Given the description of an element on the screen output the (x, y) to click on. 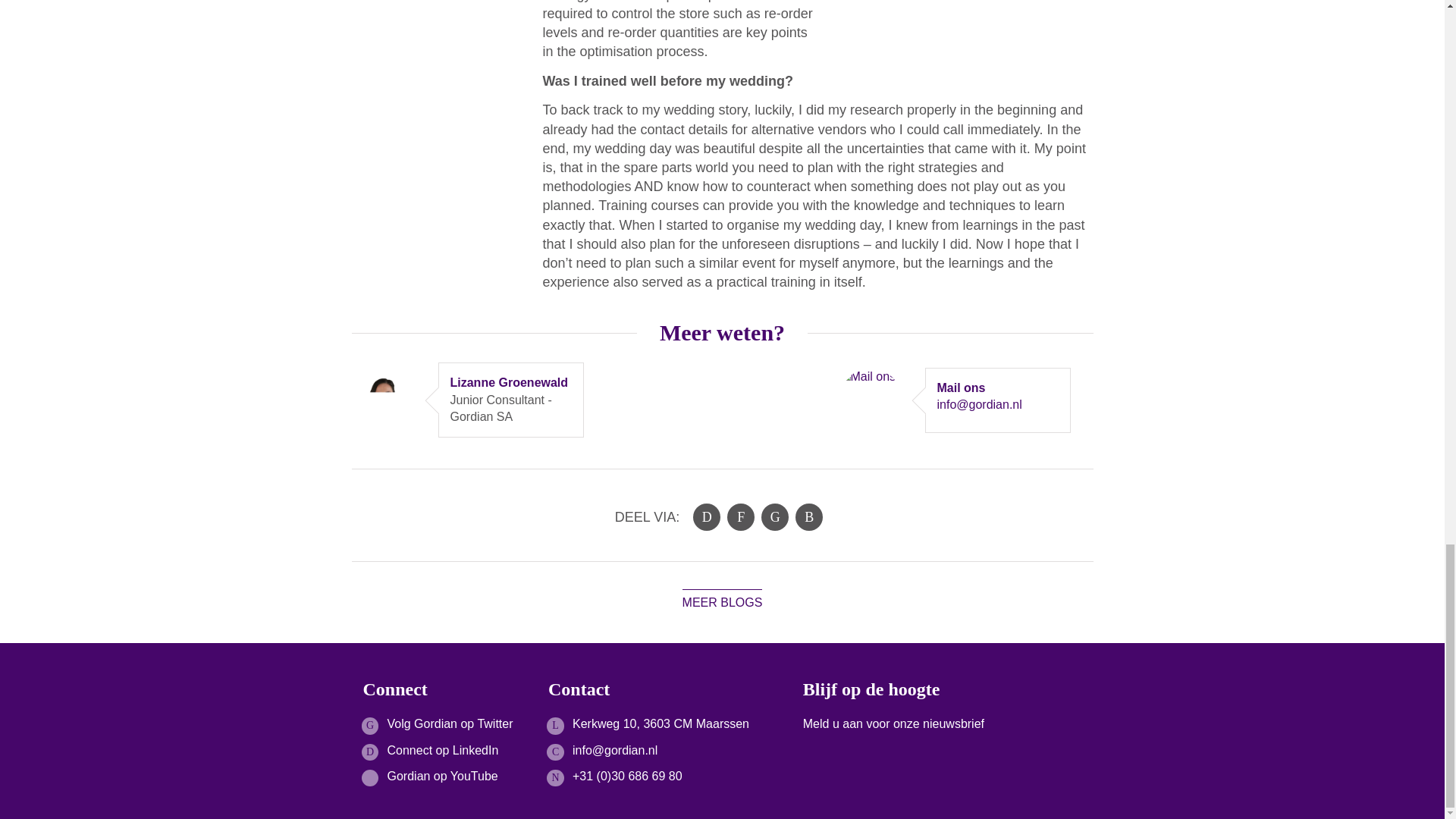
LinkedIn (706, 516)
MEER BLOGS (722, 601)
Facebook (740, 516)
Mail (808, 516)
Connect op LinkedIn (442, 749)
Kerkweg 10, 3603 CM Maarssen (660, 723)
Volg Gordian op Twitter (449, 723)
Twitter (775, 516)
Bekijk profiel (484, 382)
Gordian op YouTube (442, 775)
